Given the description of an element on the screen output the (x, y) to click on. 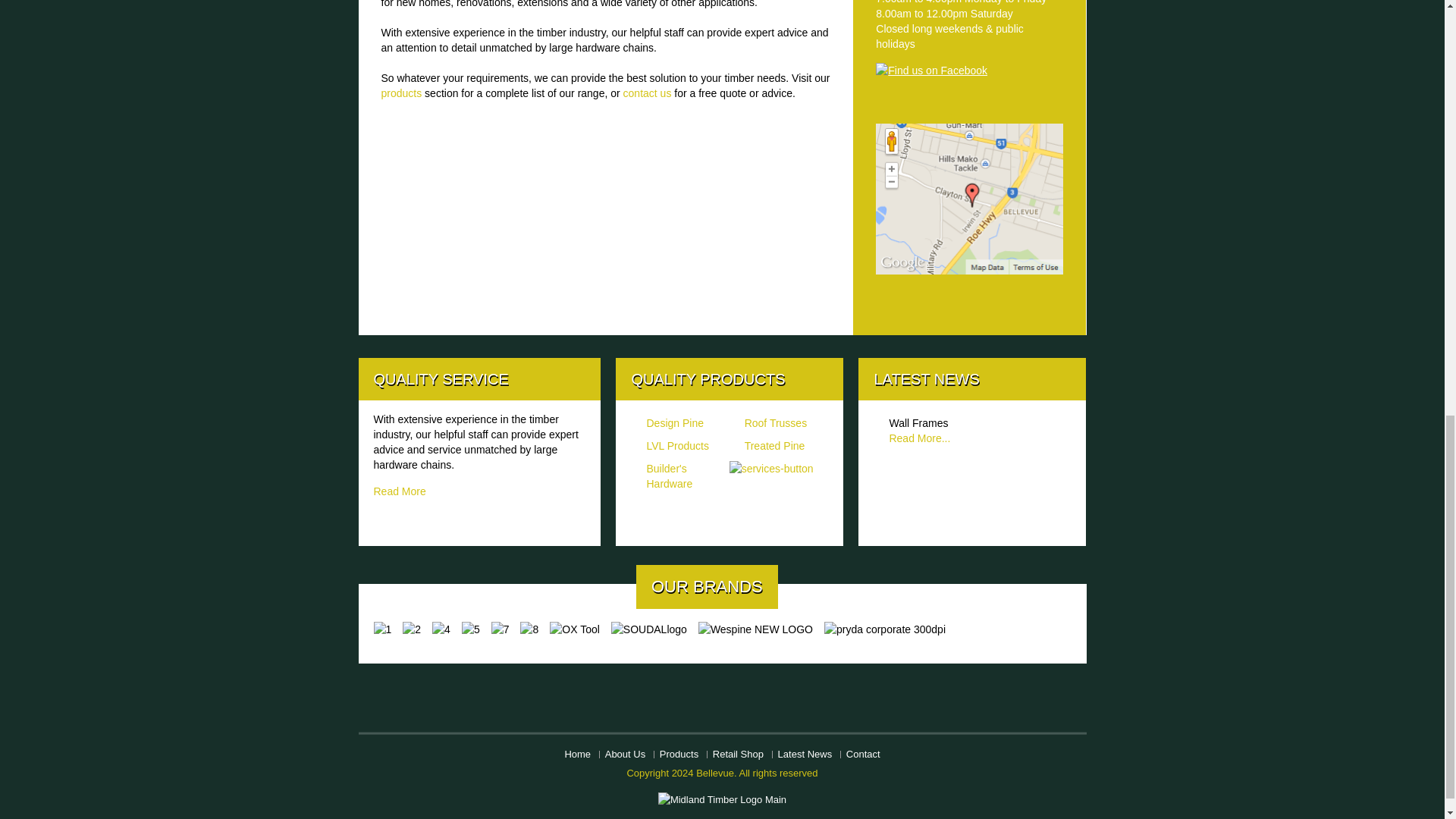
Retail Shop (737, 754)
contact us (647, 92)
About Us (625, 754)
Contact (862, 754)
Latest News (804, 754)
Treated Pine (774, 445)
products (401, 92)
Read More (398, 491)
Home (577, 754)
LVL Products (677, 445)
Read More... (919, 438)
Design Pine (674, 422)
Roof Trusses (775, 422)
Products (678, 754)
Builder's Hardware (669, 475)
